Given the description of an element on the screen output the (x, y) to click on. 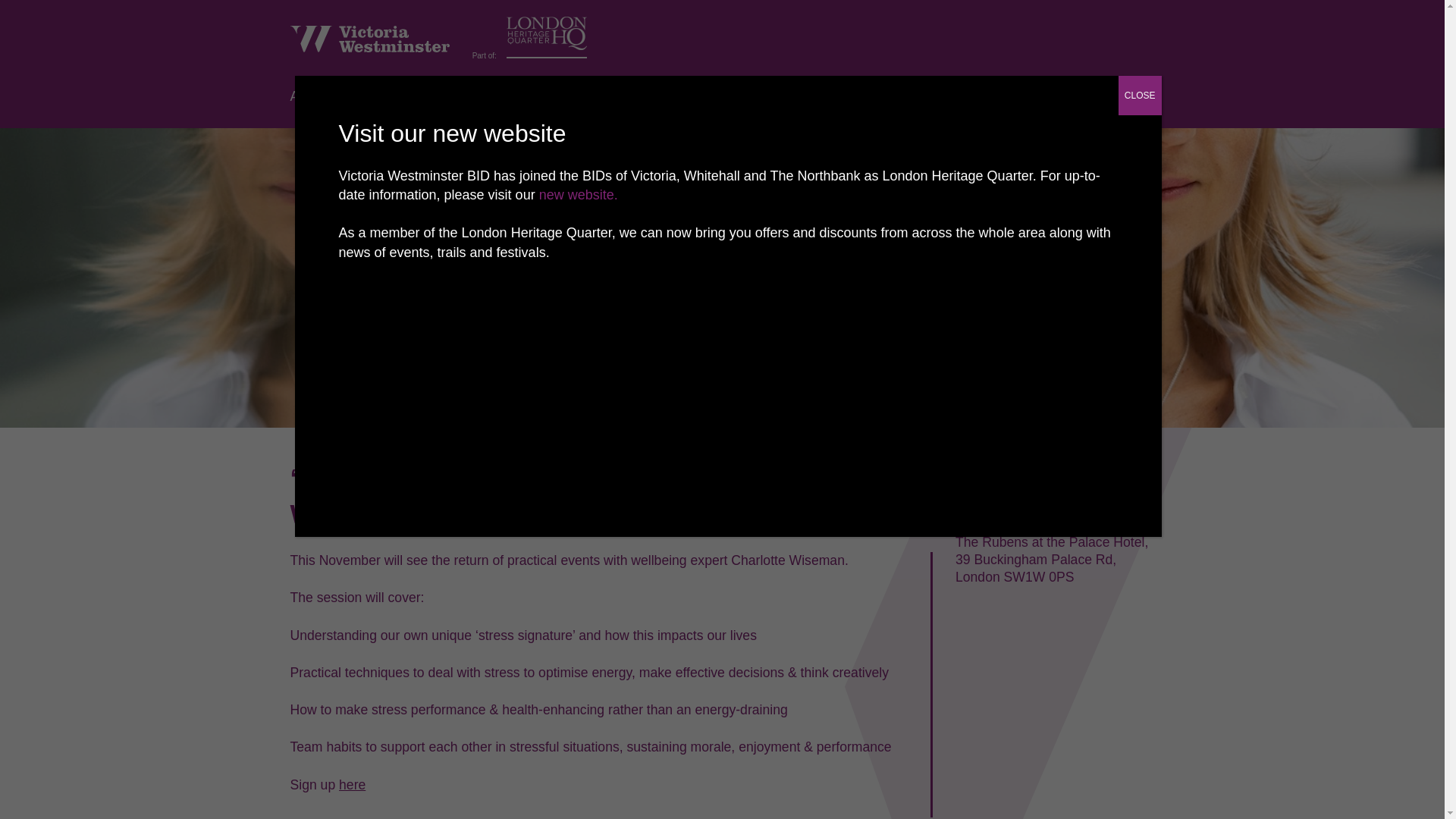
here (352, 784)
CLOSE (1139, 95)
new website. (577, 194)
Privilege Card (586, 96)
About Us (317, 96)
Publications (484, 96)
Our Work (396, 96)
Contact Us (684, 96)
